Given the description of an element on the screen output the (x, y) to click on. 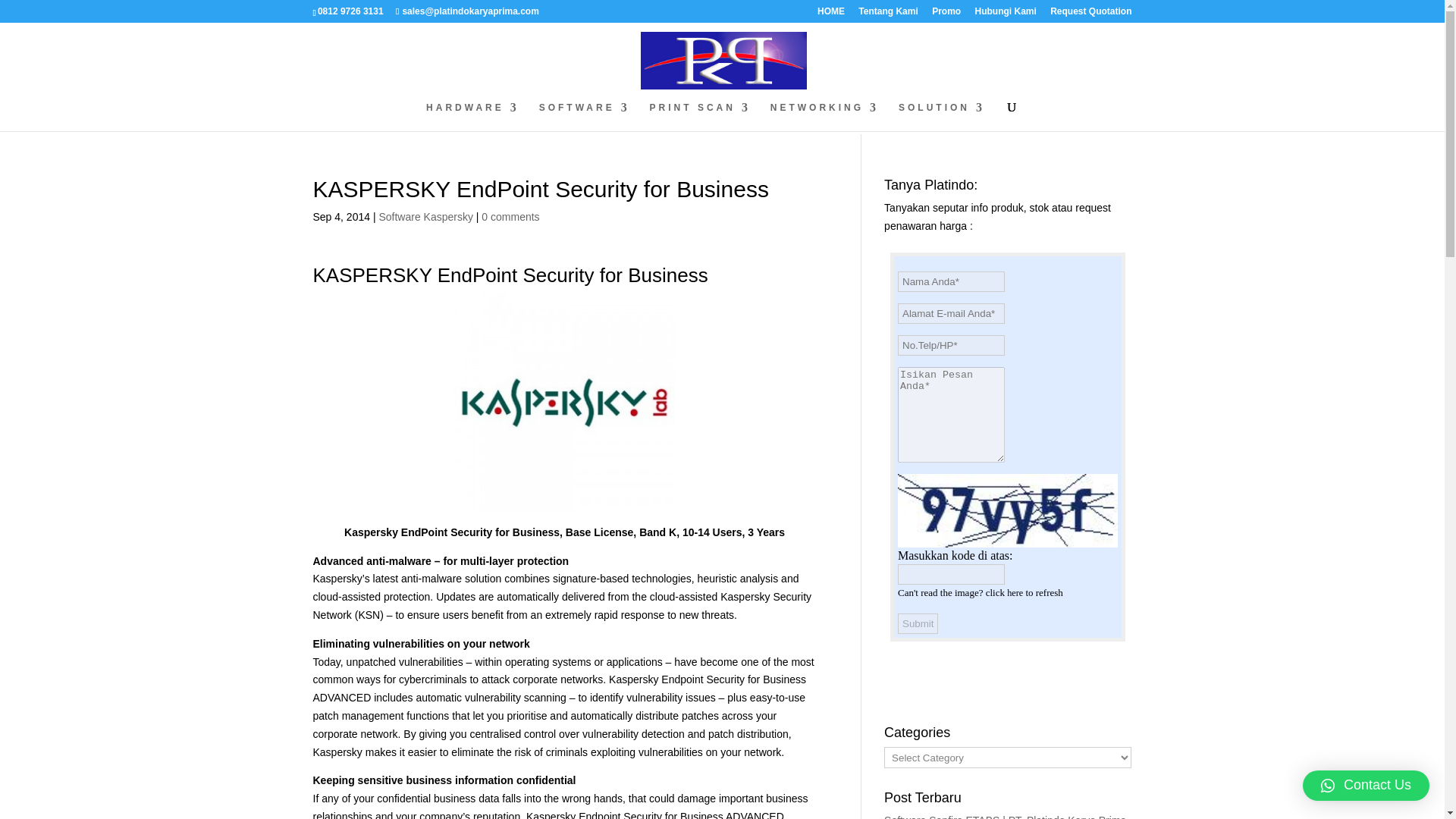
Request Quotation (1090, 14)
Hubungi Kami (1004, 14)
HARDWARE (472, 116)
HOME (830, 14)
Promo (945, 14)
Tentang Kami (888, 14)
